Given the description of an element on the screen output the (x, y) to click on. 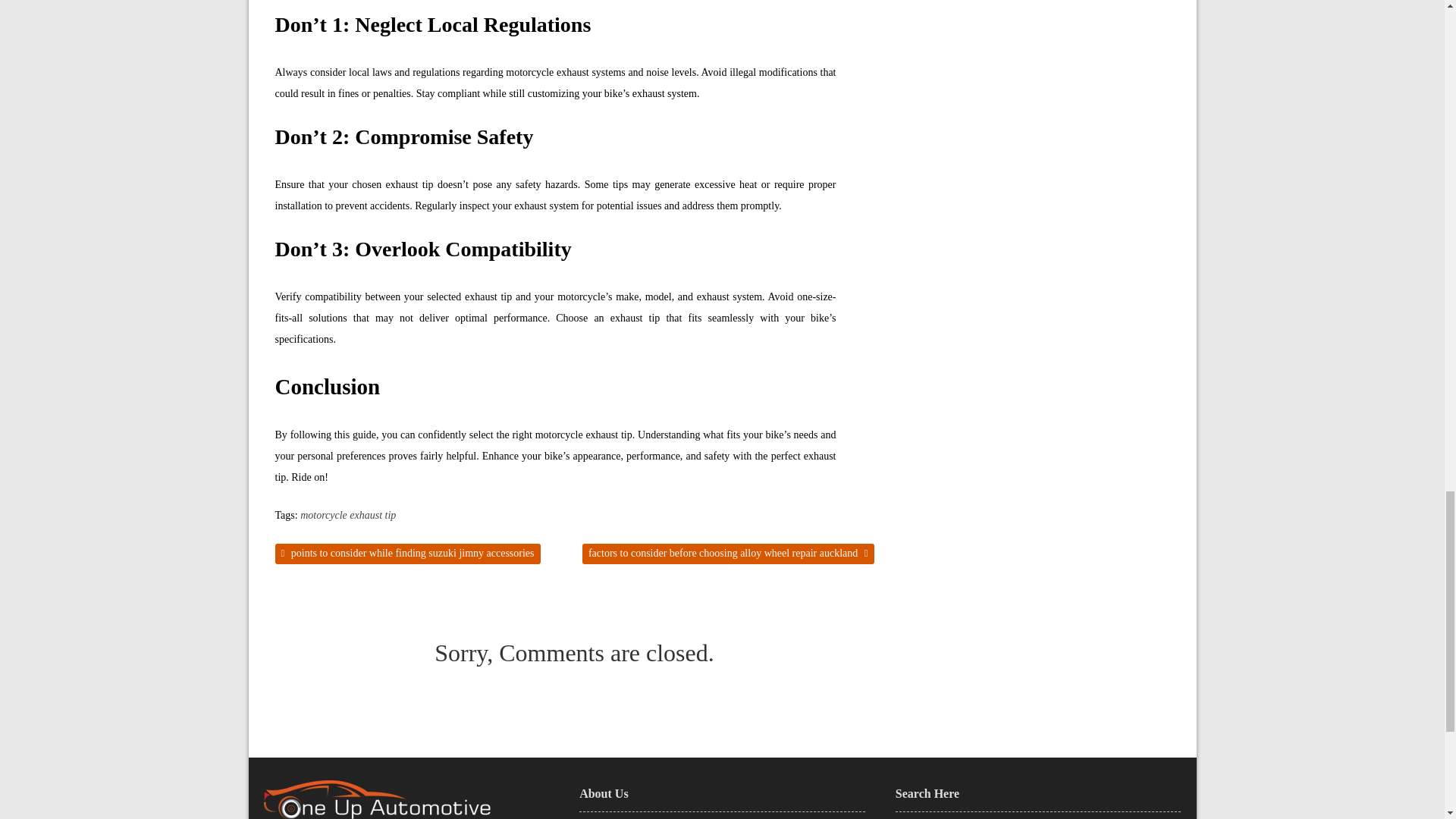
points to consider while finding suzuki jimny accessories (407, 553)
motorcycle exhaust tip (347, 515)
